Given the description of an element on the screen output the (x, y) to click on. 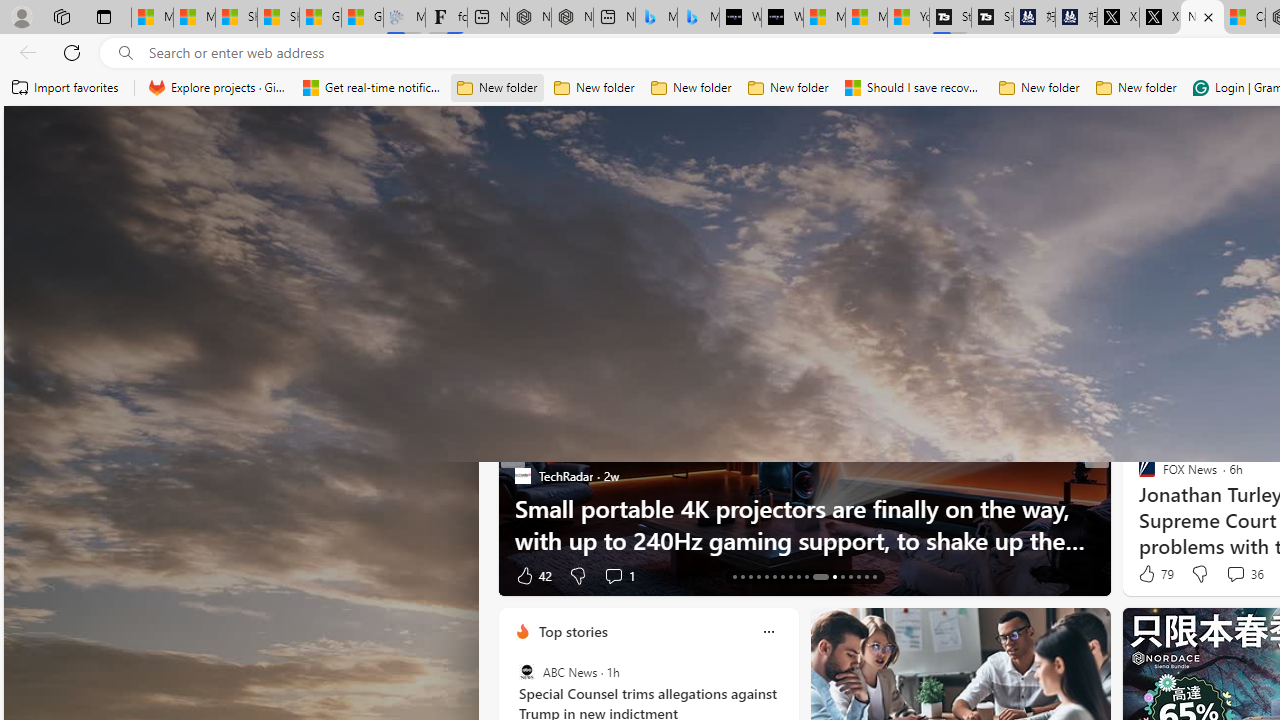
View comments 36 Comment (1244, 574)
Money (875, 265)
Back (24, 52)
Microsoft 365 (1186, 223)
Microsoft Start Sports (932, 223)
AutomationID: tab-37 (850, 576)
TechRadar (522, 475)
Start the conversation (1229, 575)
Sports (761, 265)
Wikipedia (1017, 223)
AutomationID: tab-13 (733, 576)
Microsoft Bing Travel - Shangri-La Hotel Bangkok (698, 17)
Shopping (1240, 265)
AutomationID: tab-40 (874, 576)
Microsoft start (142, 138)
